Given the description of an element on the screen output the (x, y) to click on. 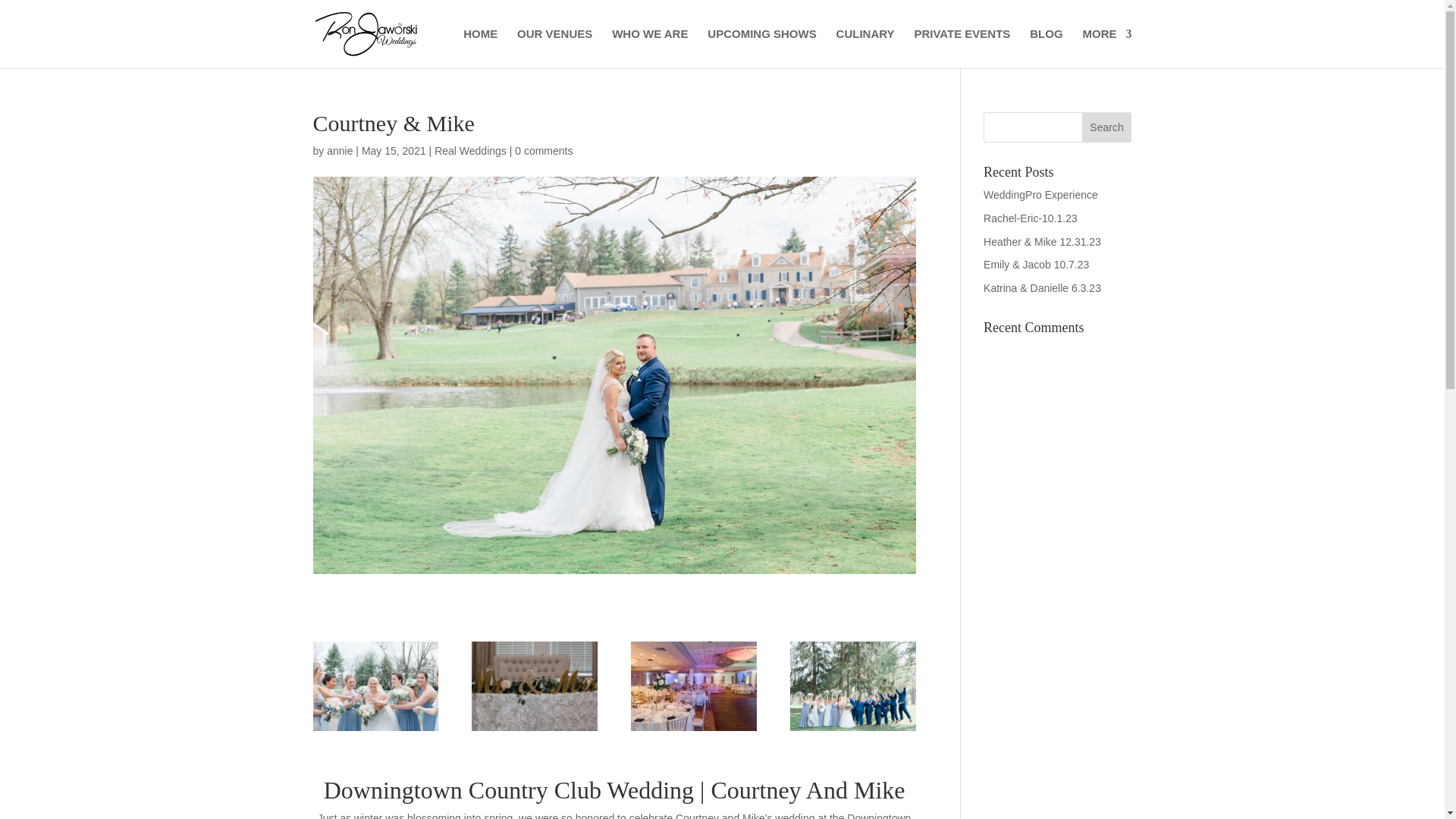
MORE (1107, 47)
Rachel-Eric-10.1.23 (1030, 218)
UPCOMING SHOWS (761, 47)
WHO WE ARE (649, 47)
CULINARY (865, 47)
Real Weddings (469, 150)
WeddingPro Experience (1040, 194)
Search (1106, 127)
Posts by annie (339, 150)
PRIVATE EVENTS (962, 47)
OUR VENUES (554, 47)
Search (1106, 127)
0 comments (543, 150)
annie (339, 150)
